Given the description of an element on the screen output the (x, y) to click on. 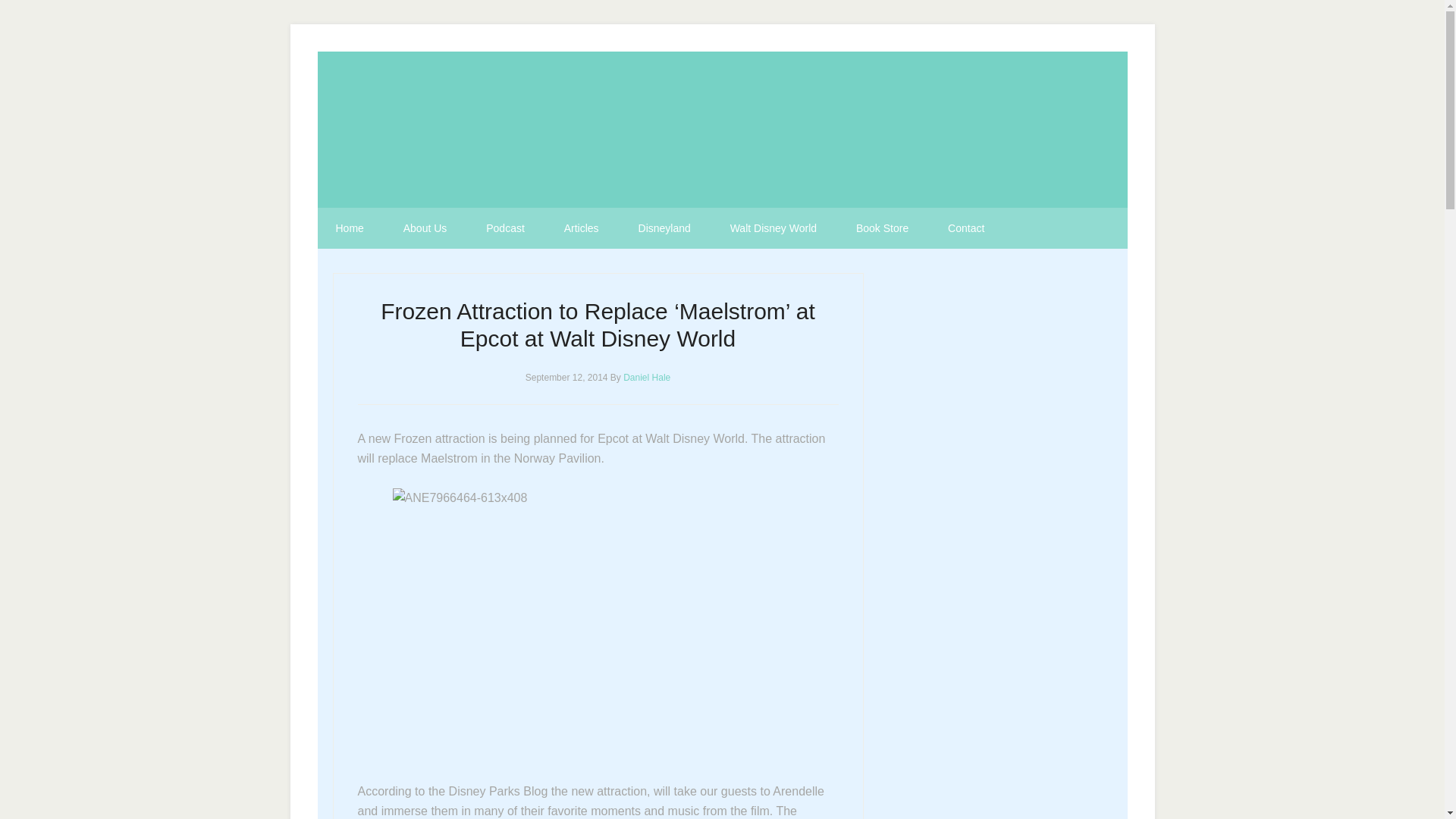
Book Store (882, 228)
Disneyland (664, 228)
Home (349, 228)
The DisGeek Podcast (721, 129)
Daniel Hale (646, 377)
Walt Disney World (772, 228)
Articles (581, 228)
Podcast (505, 228)
Contact (966, 228)
About Us (425, 228)
